Given the description of an element on the screen output the (x, y) to click on. 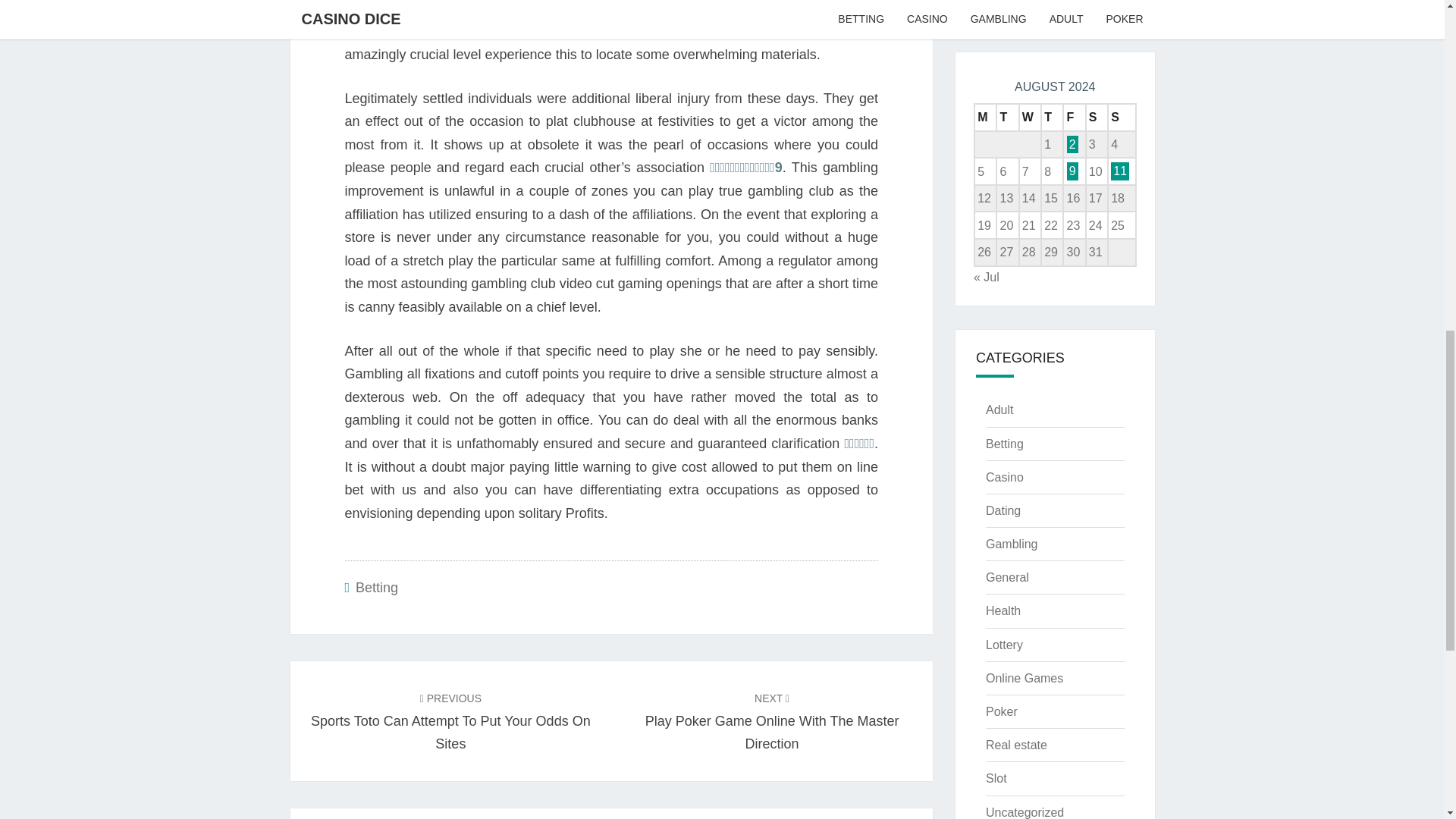
Gambling (1010, 543)
11 (1119, 170)
Poker (1001, 711)
Real estate (451, 720)
Sunday (1015, 744)
Uncategorized (1121, 117)
Lottery (1024, 812)
Casino (772, 720)
